Given the description of an element on the screen output the (x, y) to click on. 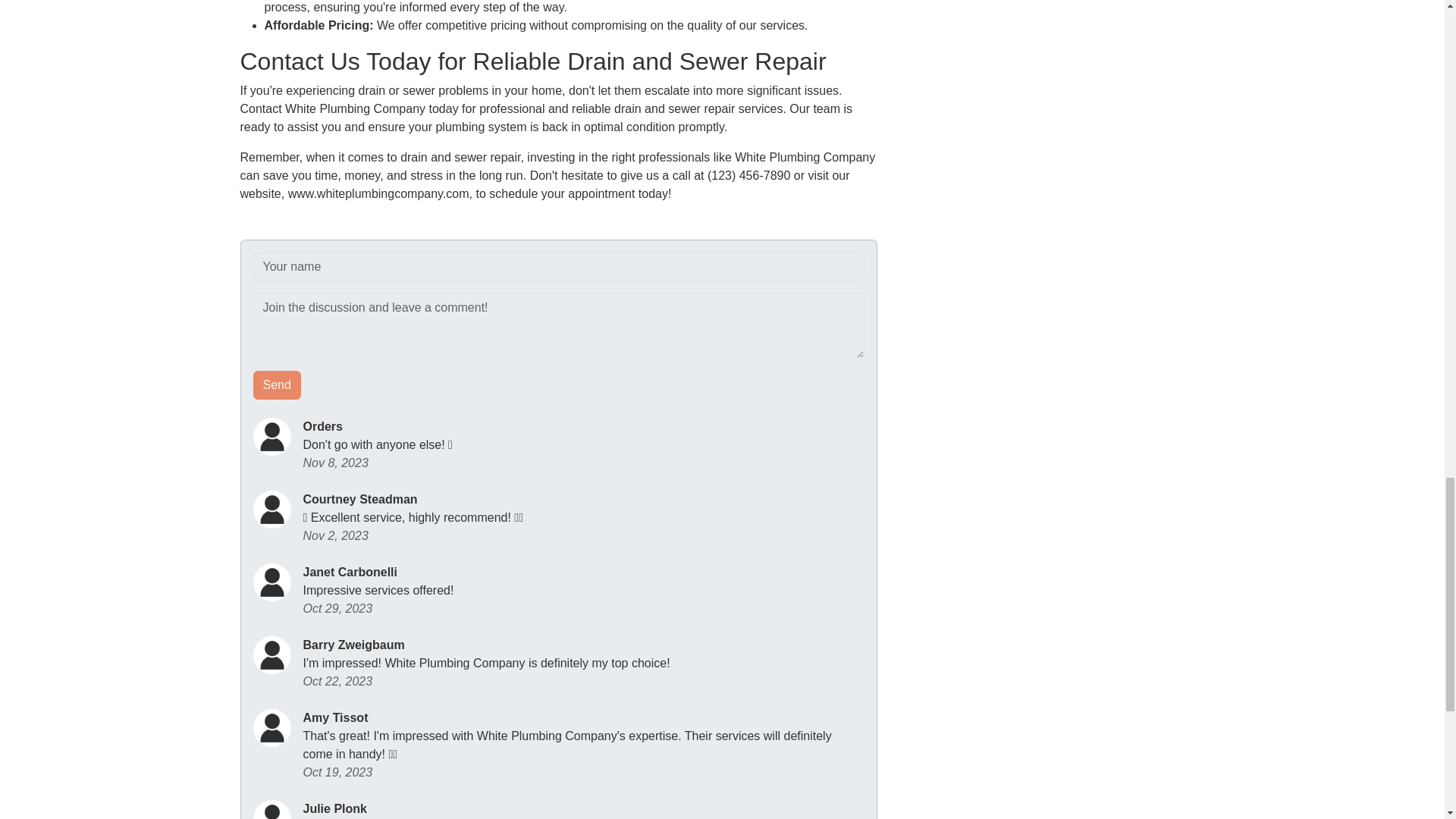
Send (277, 385)
Send (277, 385)
